Given the description of an element on the screen output the (x, y) to click on. 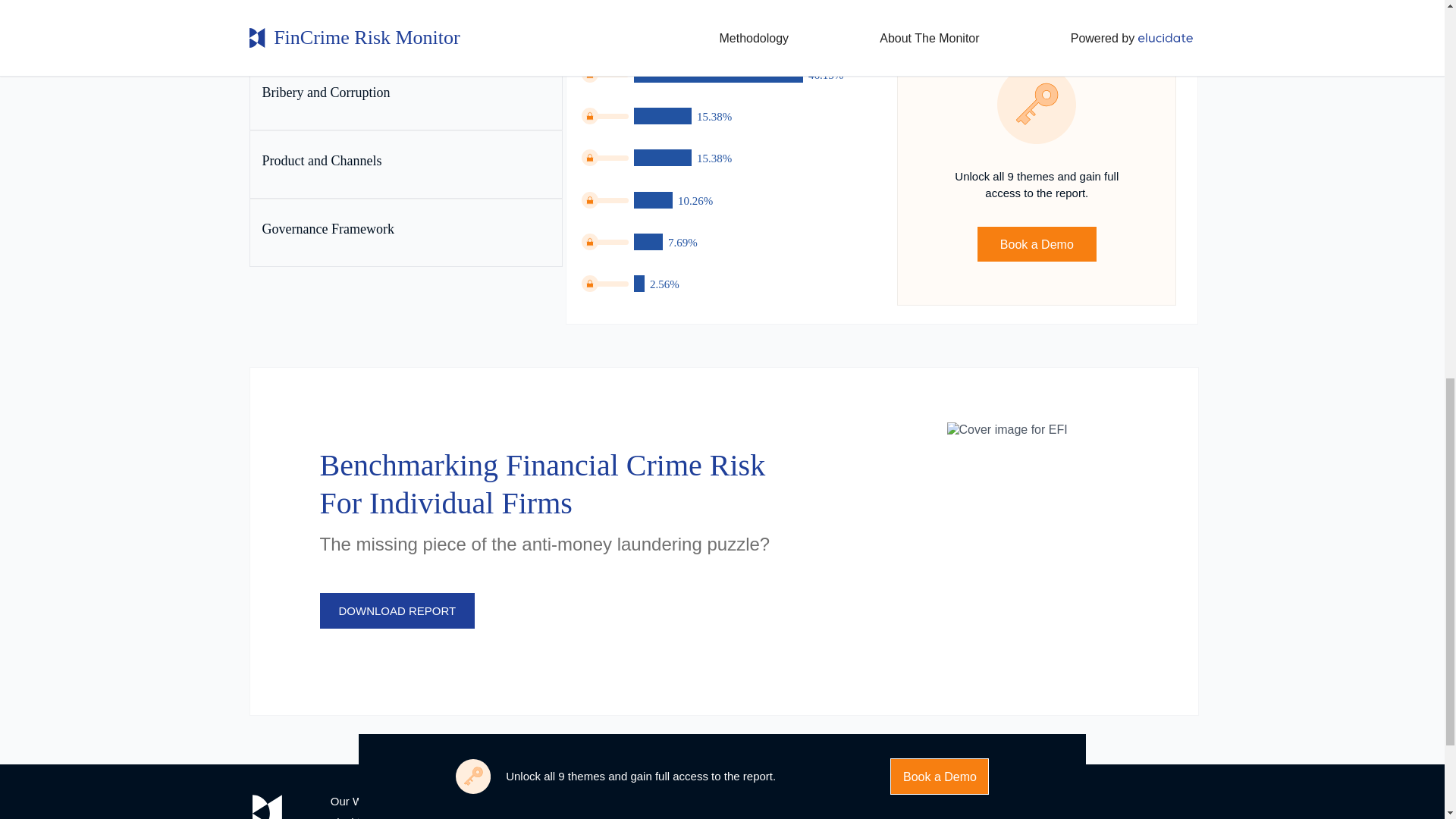
Book a Demo (1036, 244)
elucidate.co (360, 817)
Elucidate on LinkedIn (816, 803)
DOWNLOAD REPORT (398, 610)
Privacy Policy (678, 817)
Contact (662, 800)
About The Monitor (532, 817)
Elucidate on Tweeter (852, 803)
Our Website (361, 800)
Methodology (518, 800)
